Given the description of an element on the screen output the (x, y) to click on. 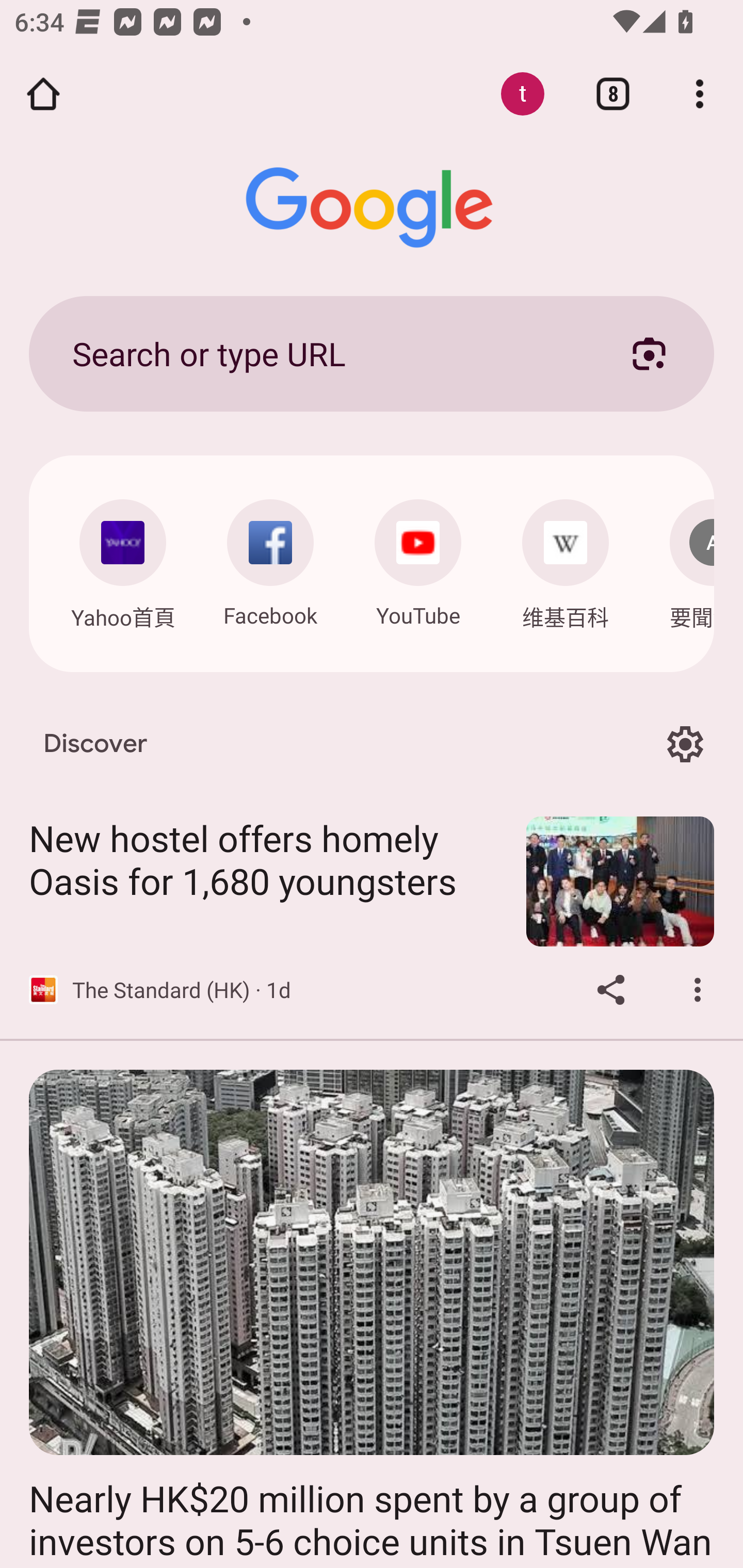
Open the home page (43, 93)
Switch or close tabs (612, 93)
Customize and control Google Chrome (699, 93)
Search or type URL (327, 353)
Search with your camera using Google Lens (648, 353)
Navigate: Yahoo首頁: hk.mobi.yahoo.com Yahoo首頁 (122, 558)
Navigate: Facebook: m.facebook.com Facebook (270, 558)
Navigate: YouTube: m.youtube.com YouTube (417, 558)
Navigate: 维基百科: zh.m.wikipedia.org 维基百科 (565, 558)
Options for Discover (684, 743)
